Given the description of an element on the screen output the (x, y) to click on. 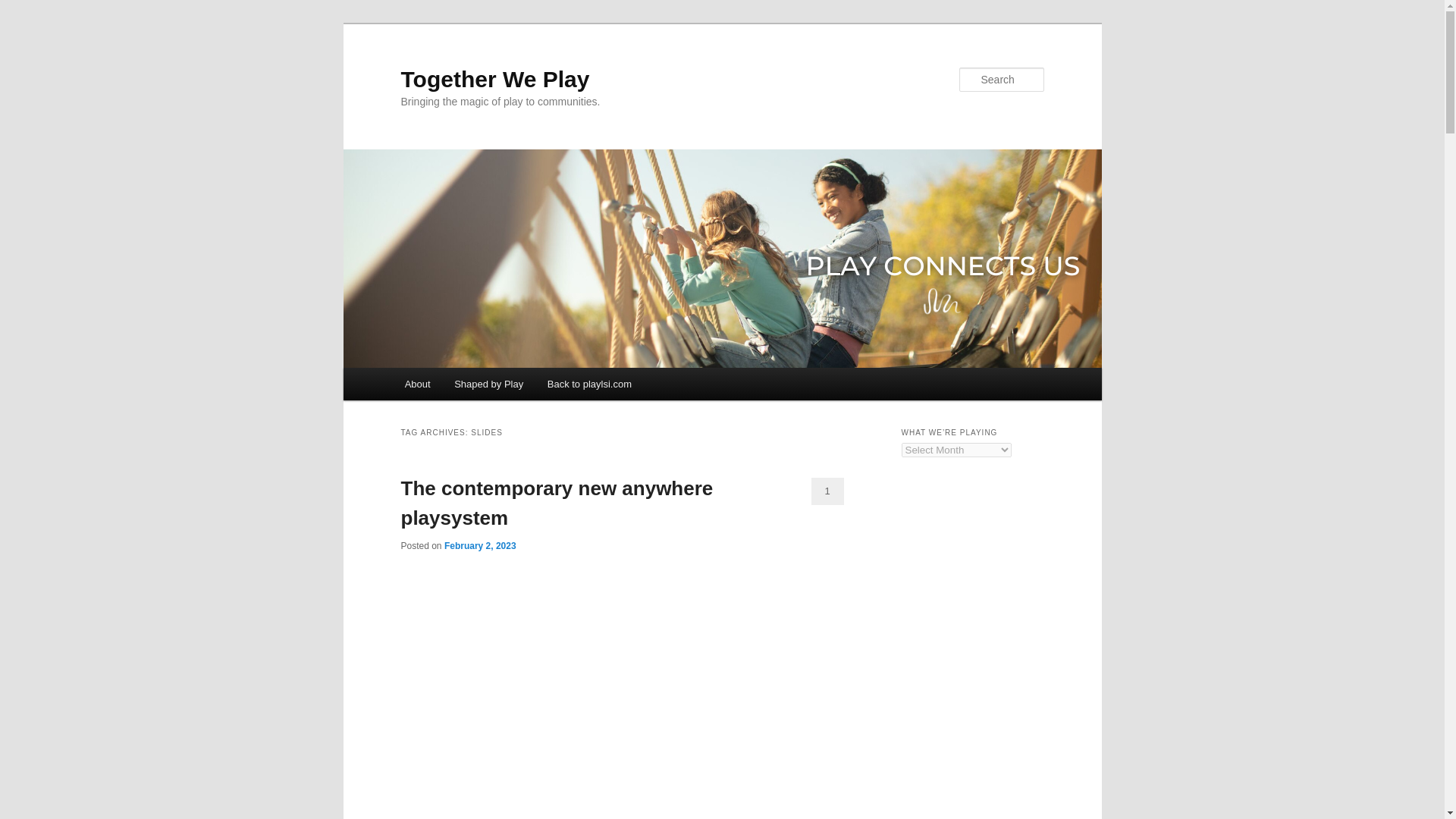
February 2, 2023 (480, 545)
1 (827, 491)
The contemporary new anywhere playsystem (556, 502)
About (417, 383)
Search (24, 8)
1:30 pm (480, 545)
Together We Play (494, 78)
Shaped by Play (488, 383)
Back to playlsi.com (589, 383)
